Given the description of an element on the screen output the (x, y) to click on. 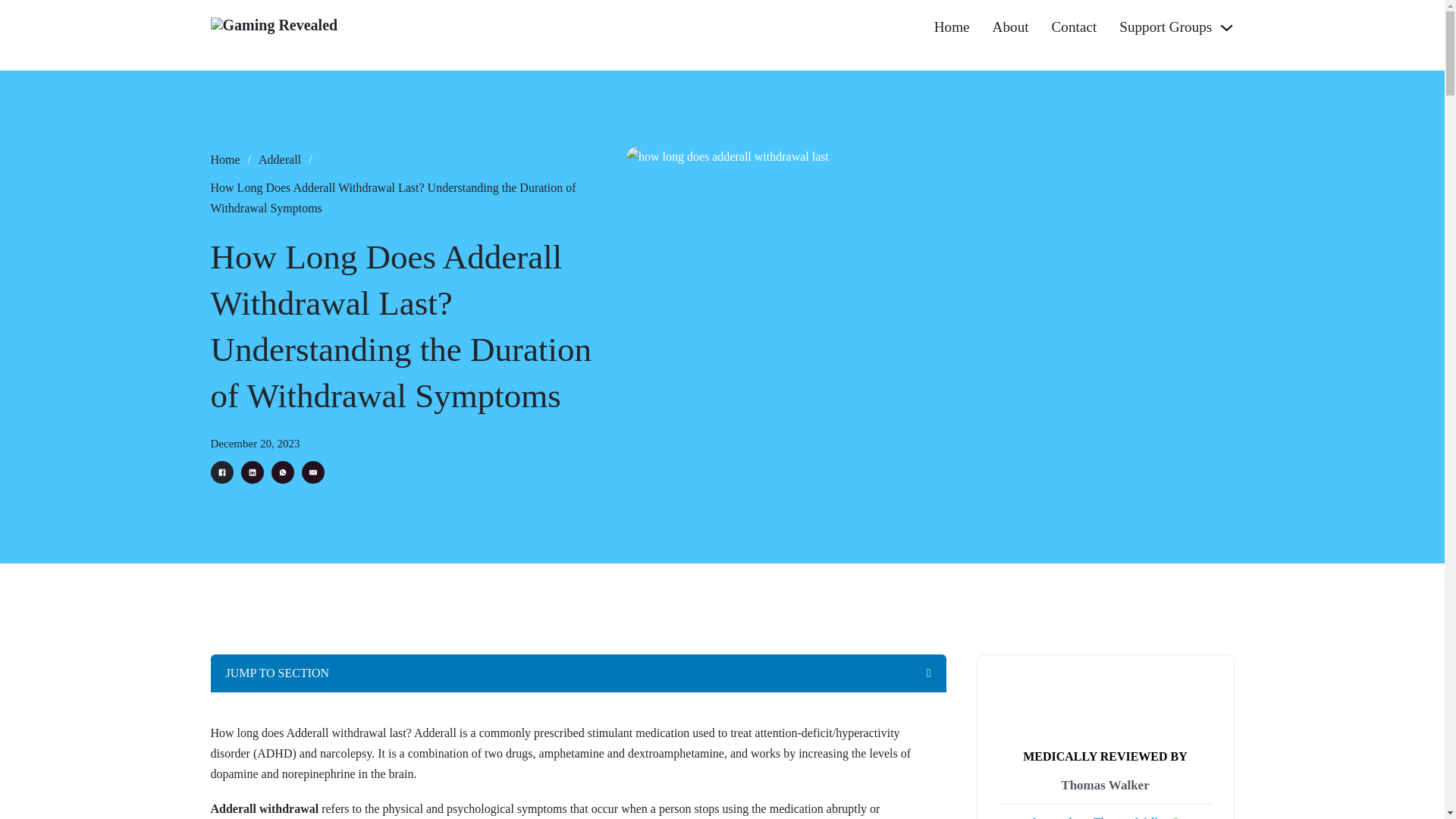
Home (951, 27)
Thomas Walker (1104, 785)
Support Groups (1165, 27)
Adderall (280, 159)
MEDICALLY REVIEWED BY (1105, 756)
Home (225, 159)
About (1010, 27)
Contact (1074, 27)
